Given the description of an element on the screen output the (x, y) to click on. 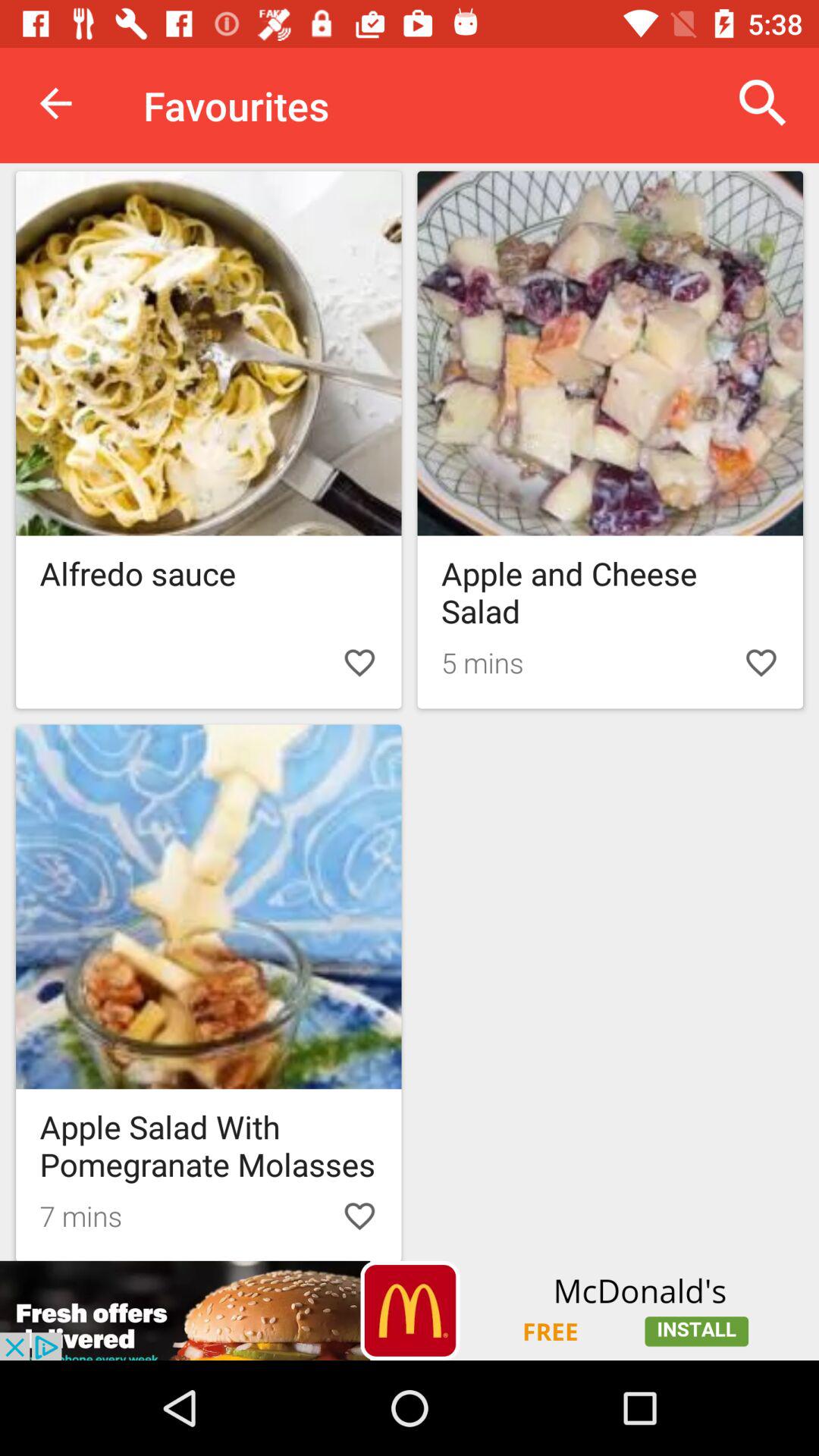
go to advertisement 's website (409, 1310)
